Given the description of an element on the screen output the (x, y) to click on. 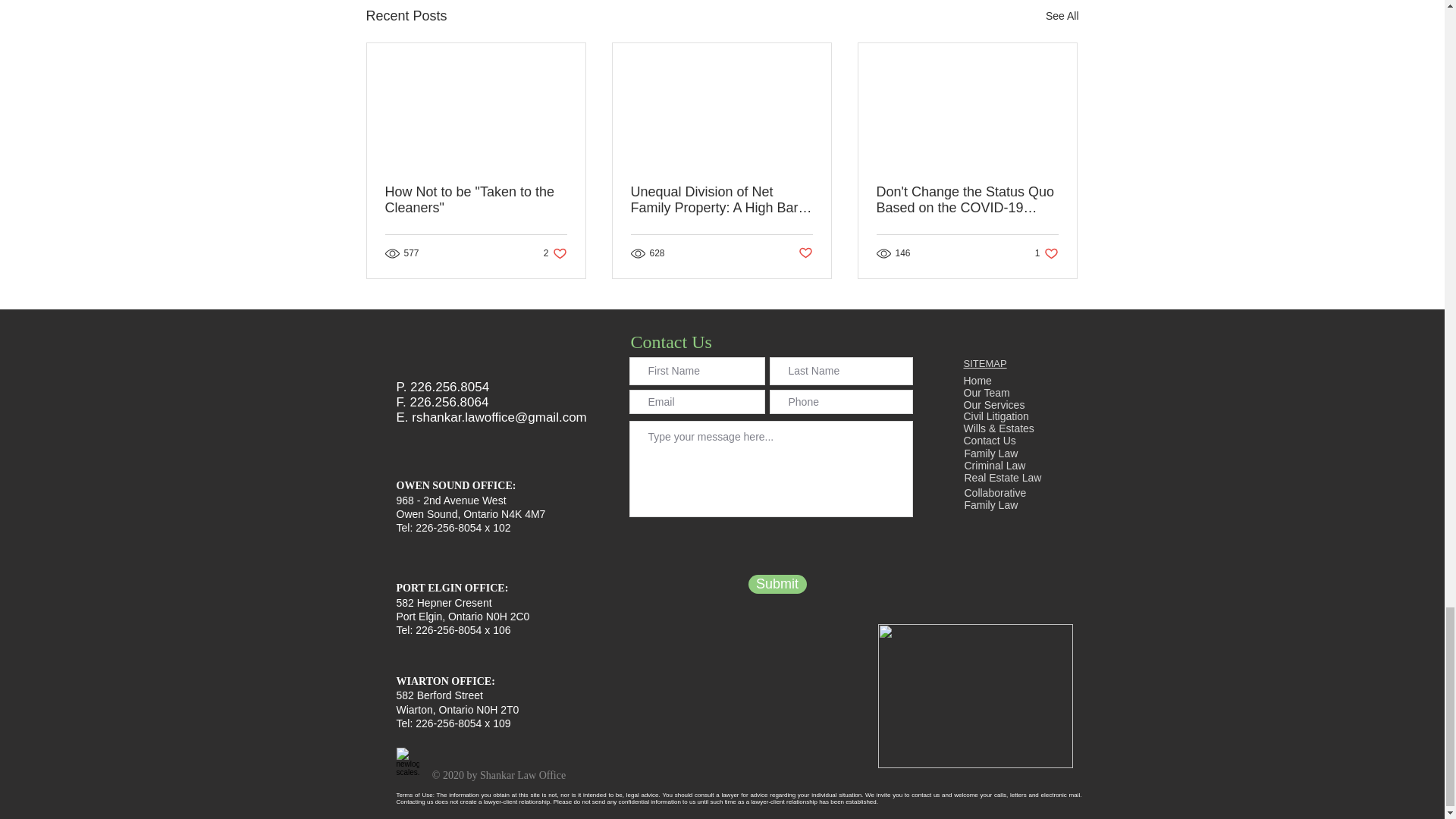
Office Photo.jpg (975, 696)
